Given the description of an element on the screen output the (x, y) to click on. 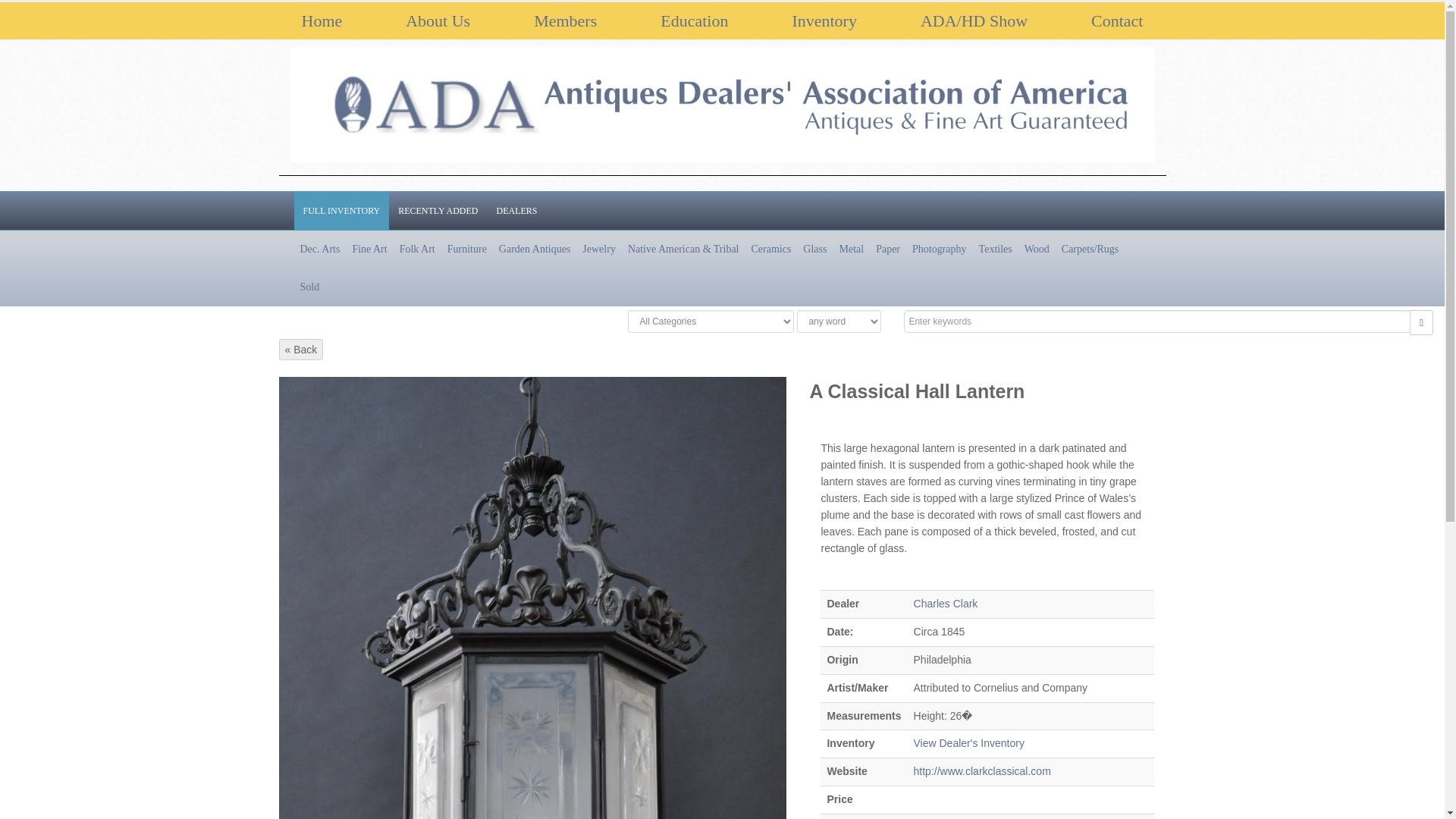
Folk Art (417, 249)
FULL INVENTORY (342, 210)
RECENTLY ADDED (437, 210)
Furniture (467, 249)
Education (694, 20)
Fine Art (369, 249)
Photography (938, 249)
Wood (1036, 249)
Ceramics (770, 249)
Glass (814, 249)
